Given the description of an element on the screen output the (x, y) to click on. 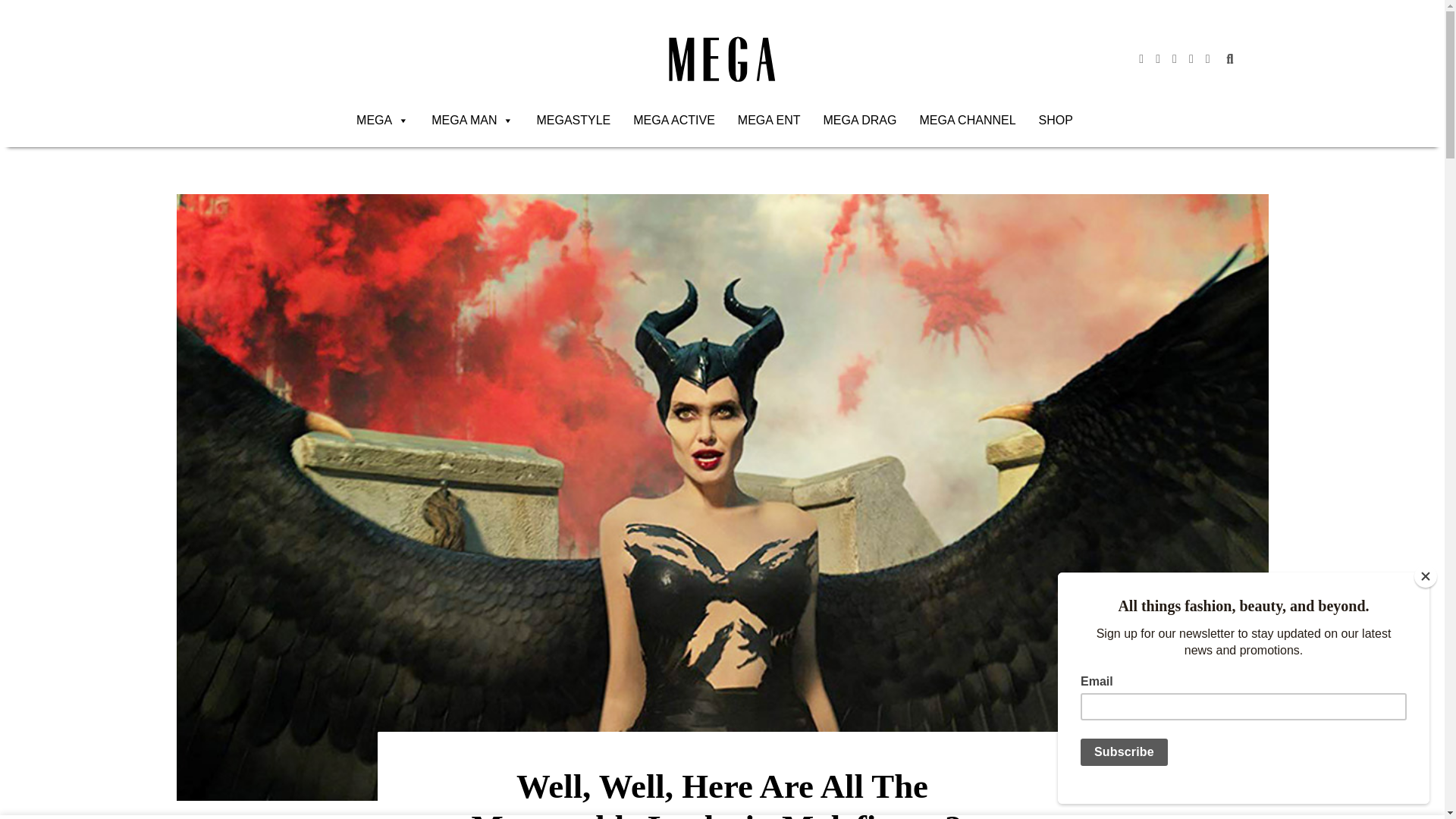
MEGASTYLE (573, 120)
MEGA MAN (472, 120)
MEGA ACTIVE (673, 120)
MEGA (382, 120)
MEGA ENT (769, 120)
MEGA CHANNEL (967, 120)
MEGA DRAG (860, 120)
